Given the description of an element on the screen output the (x, y) to click on. 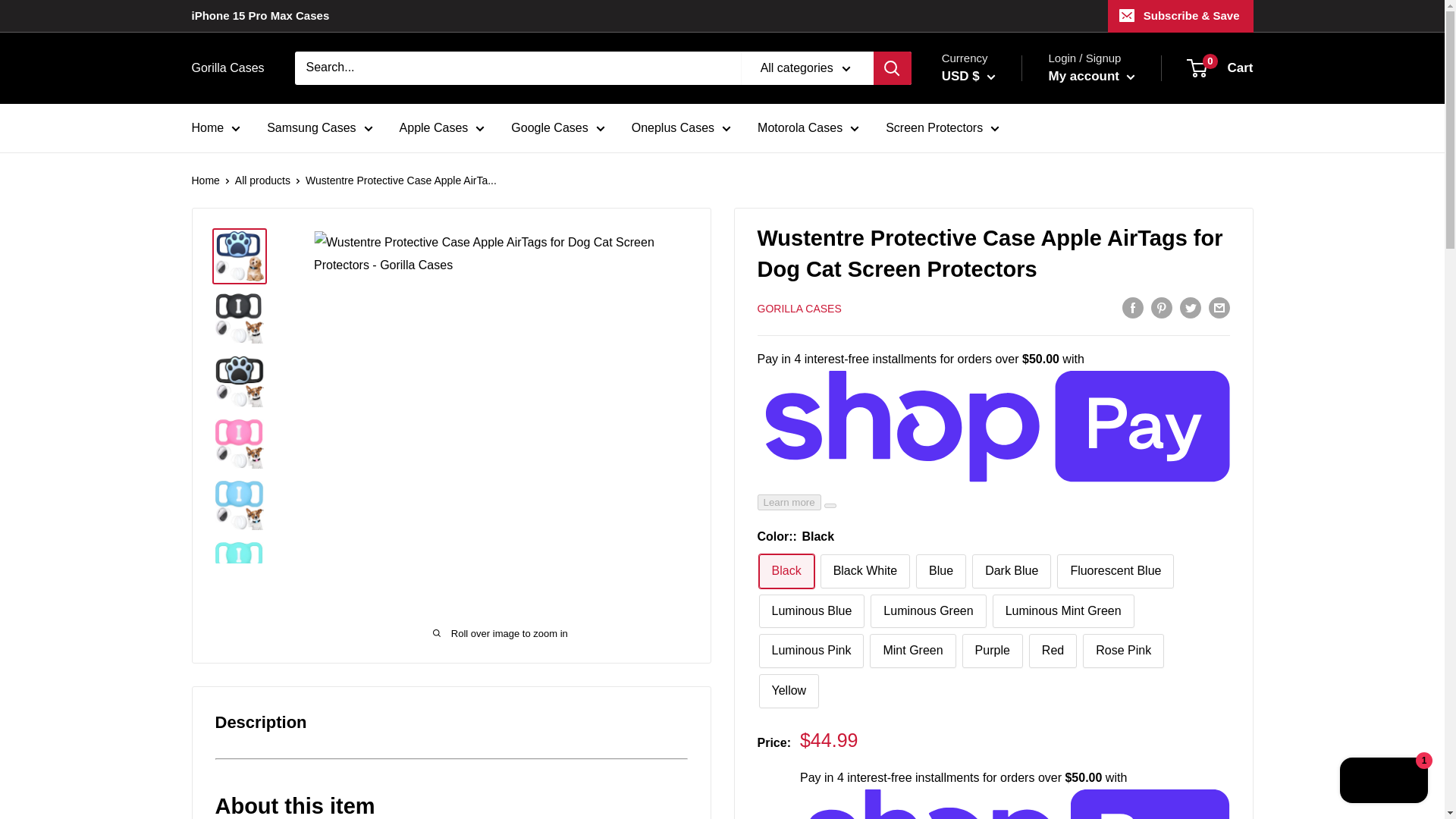
iPhone 15 Pro Max Cases (259, 15)
Luminous Green (927, 611)
Shopify online store chat (1383, 781)
Red (1053, 650)
Luminous Mint Green (1063, 611)
Fluorescent Blue (1115, 571)
Mint Green (912, 650)
Blue (940, 571)
Luminous Blue (811, 611)
Purple (992, 650)
Black (785, 571)
Luminous Pink (810, 650)
Rose Pink (1123, 650)
Dark Blue (1011, 571)
Black White (865, 571)
